Given the description of an element on the screen output the (x, y) to click on. 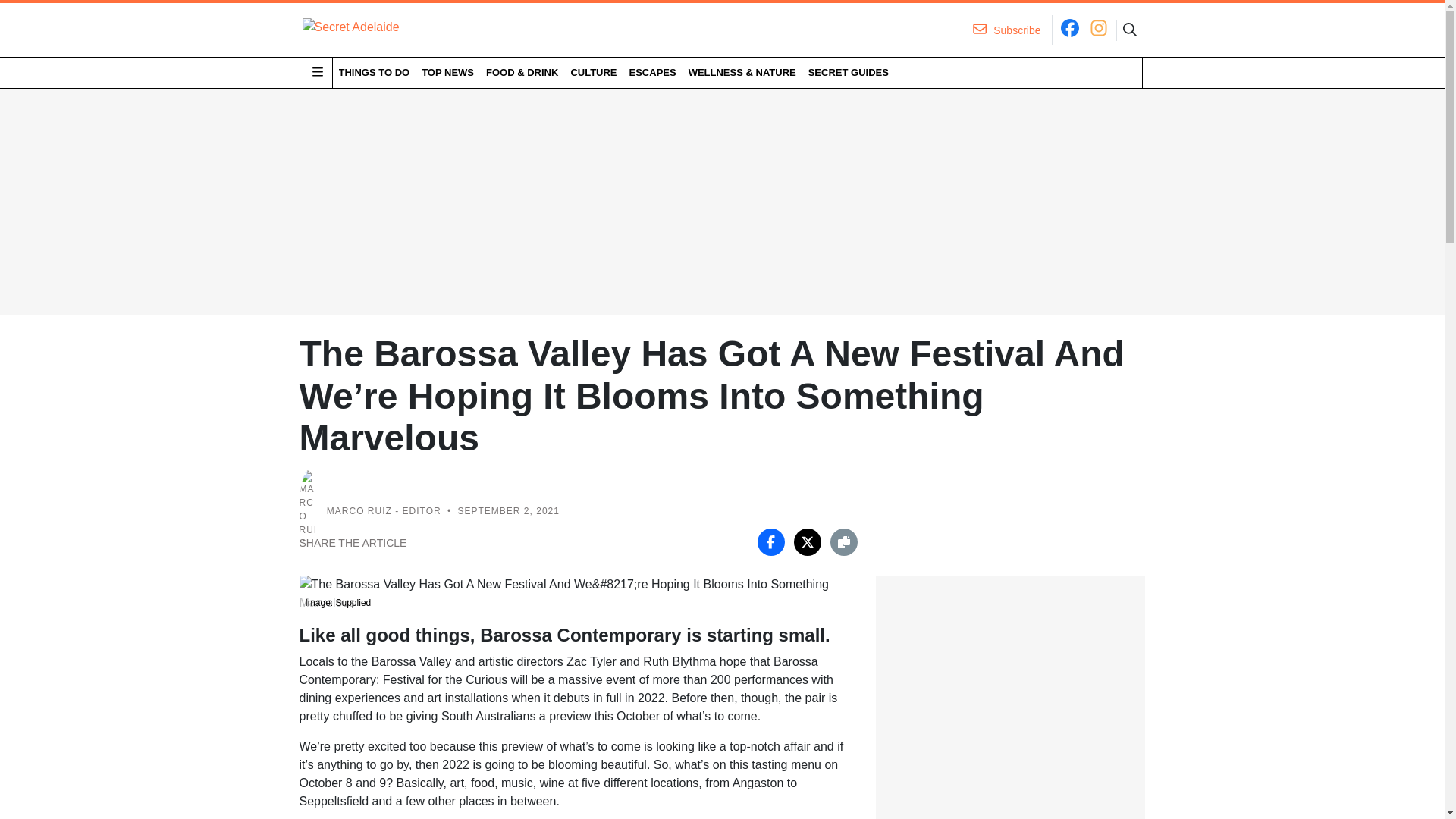
ESCAPES (652, 72)
THINGS TO DO (373, 72)
SECRET GUIDES (848, 72)
MARCO RUIZ (358, 511)
CULTURE (592, 72)
TOP NEWS (448, 72)
